Given the description of an element on the screen output the (x, y) to click on. 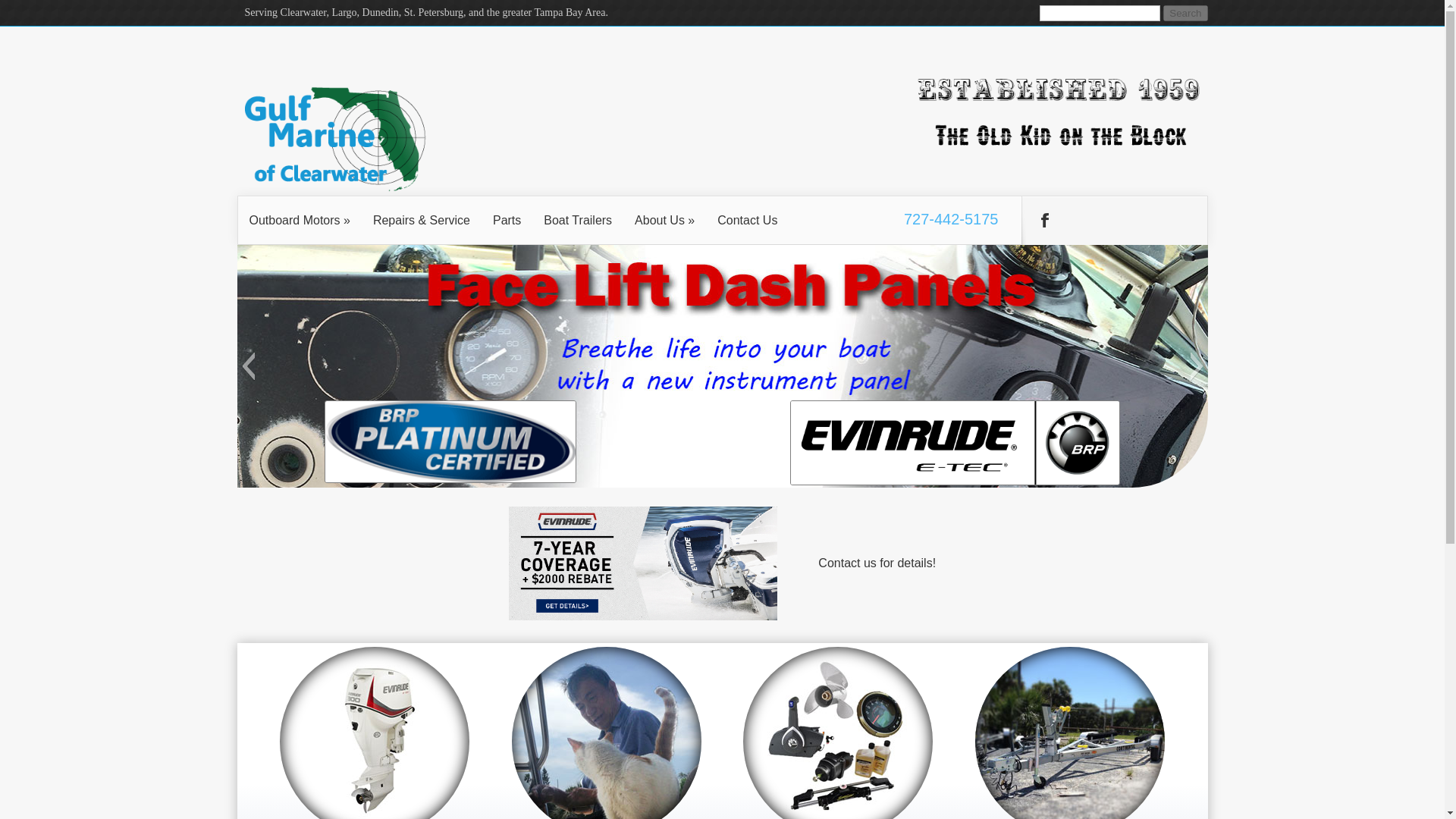
Boat Trailers (577, 220)
Previous (248, 366)
Parts (506, 220)
Follow us on Facebook (1044, 220)
Search (1185, 12)
Next (1196, 366)
Search (1185, 12)
727-442-5175 (951, 218)
Outboard Motors (373, 733)
Contact Us (747, 220)
